Given the description of an element on the screen output the (x, y) to click on. 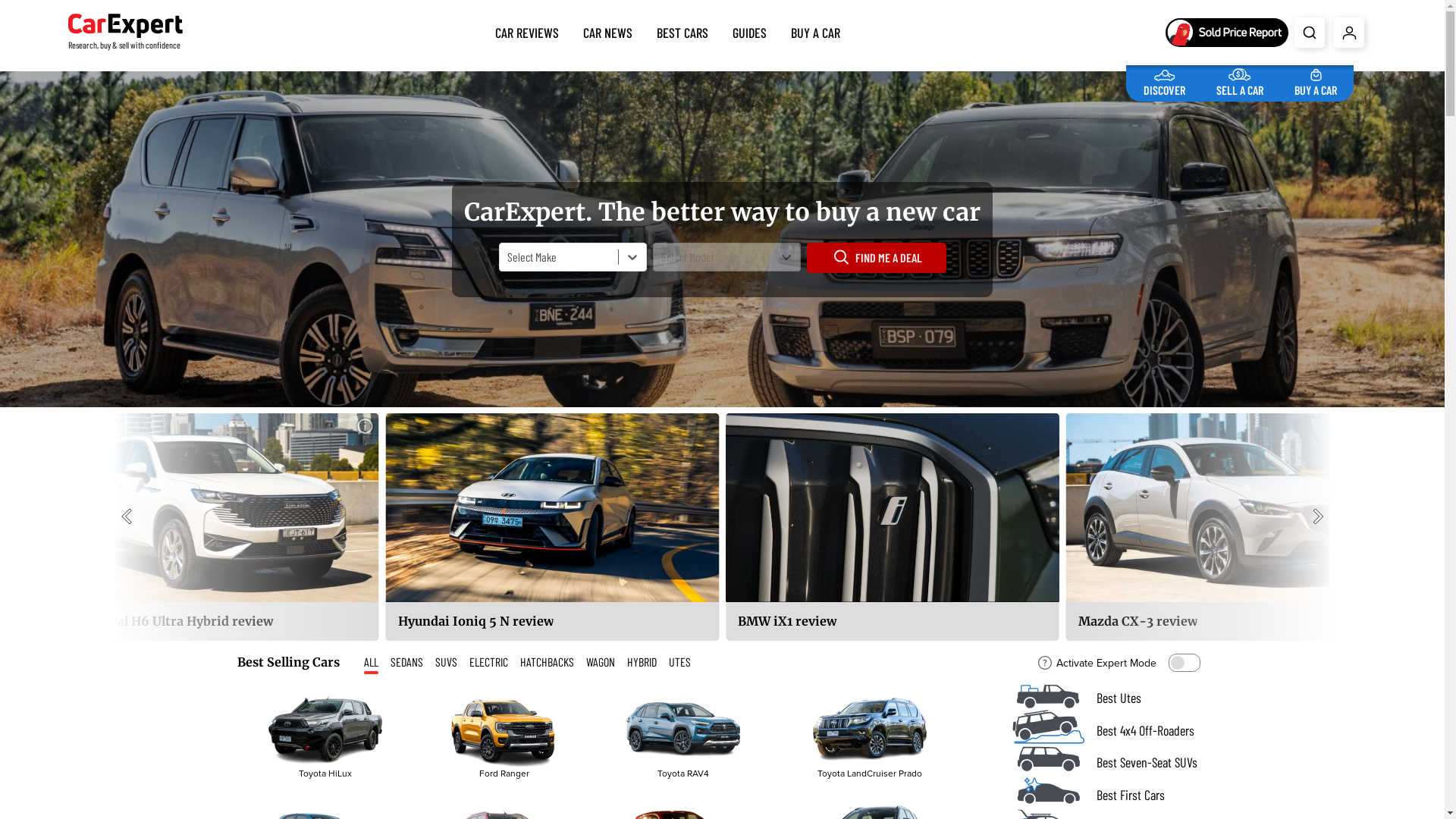
BUY A CAR Element type: text (815, 29)
CAR NEWS Element type: text (607, 29)
Submit Element type: hover (1309, 32)
GUIDES Element type: text (749, 29)
Toyota HiLux Element type: hover (325, 728)
Hyundai Ioniq 5 N review Element type: text (552, 526)
Best Seven-Seat SUVs Element type: text (1108, 762)
CAR REVIEWS Element type: text (526, 29)
BUY A CAR Element type: text (1315, 80)
Best 4x4 Off-Roaders Element type: text (1108, 730)
BMW iX1 review Element type: text (892, 526)
Toyota LandCruiser Prado Element type: text (868, 736)
GWM Haval H6 Ultra Hybrid review Element type: text (212, 526)
Toyota LandCruiser Prado Element type: hover (869, 729)
Toyota RAV4 Element type: hover (683, 729)
Best Utes Element type: text (1108, 697)
SELL A CAR Element type: text (1239, 80)
Ford Ranger Element type: hover (504, 729)
Ford Ranger Element type: text (503, 736)
BEST CARS Element type: text (682, 29)
on Element type: text (1183, 662)
Toyota RAV4 Element type: text (682, 736)
Toyota HiLux Element type: text (324, 736)
Best First Cars Element type: text (1108, 794)
DISCOVER Element type: text (1164, 80)
Mazda CX-3 review Element type: text (1232, 526)
